Given the description of an element on the screen output the (x, y) to click on. 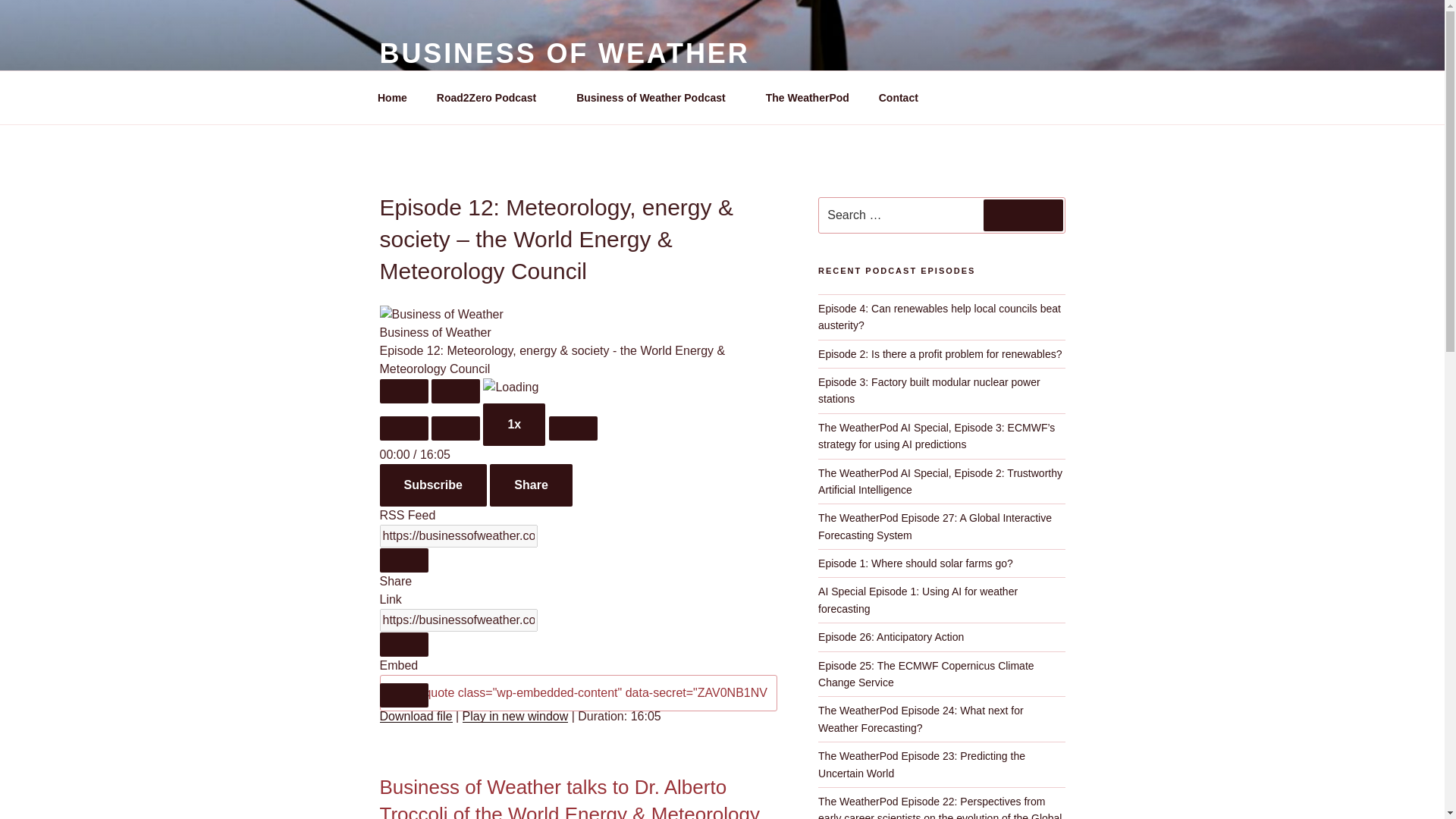
Copy RSS Feed URL (403, 559)
1x (513, 424)
Play (403, 391)
Subscribe (432, 485)
RSS Feed URL (457, 535)
Share (530, 485)
Share (530, 485)
Fast Forward 30 seconds (572, 427)
Rewind 10 Seconds (455, 427)
Business of Weather Podcast (656, 97)
